Given the description of an element on the screen output the (x, y) to click on. 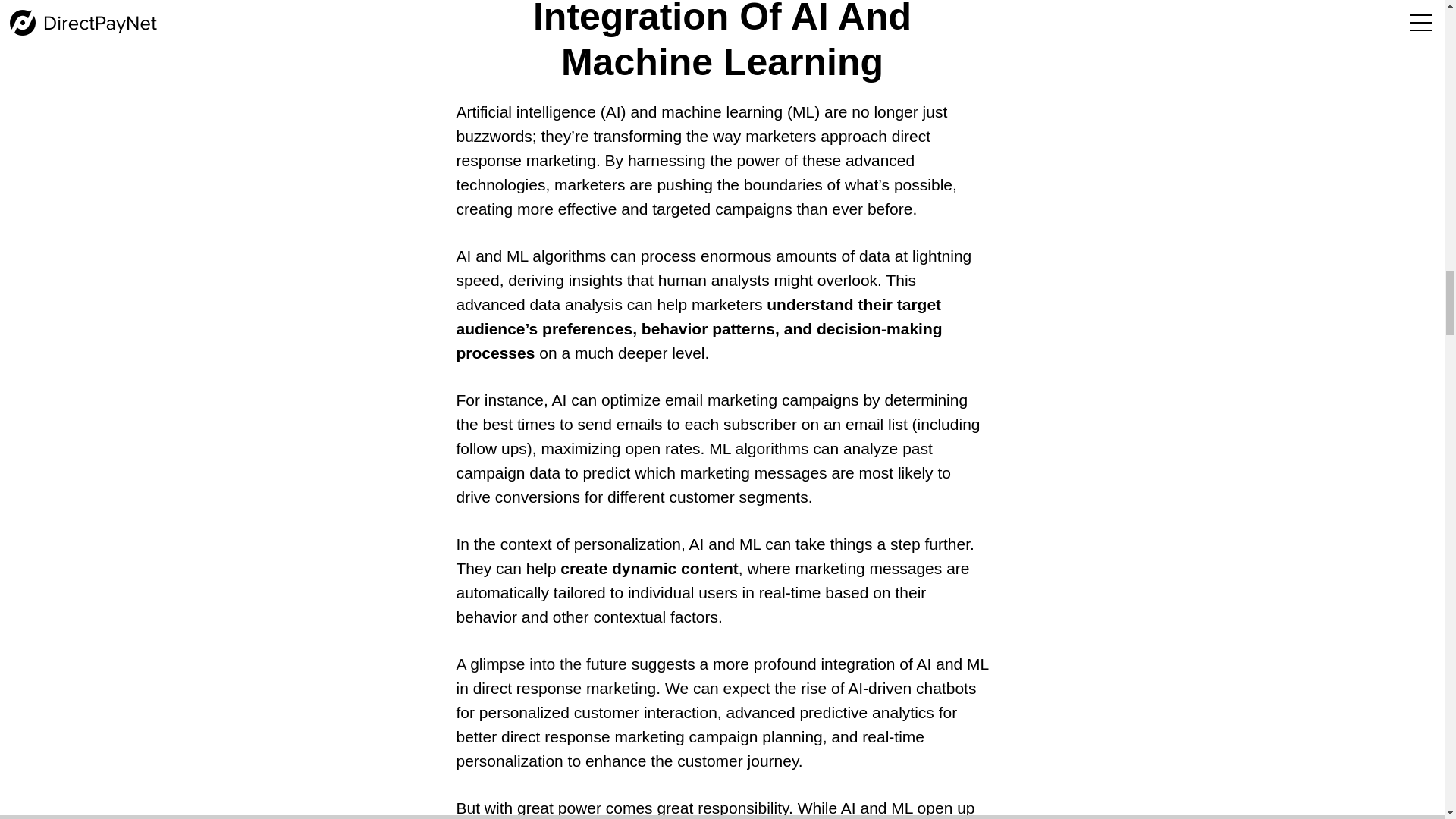
A glimpse into the future (540, 663)
